Given the description of an element on the screen output the (x, y) to click on. 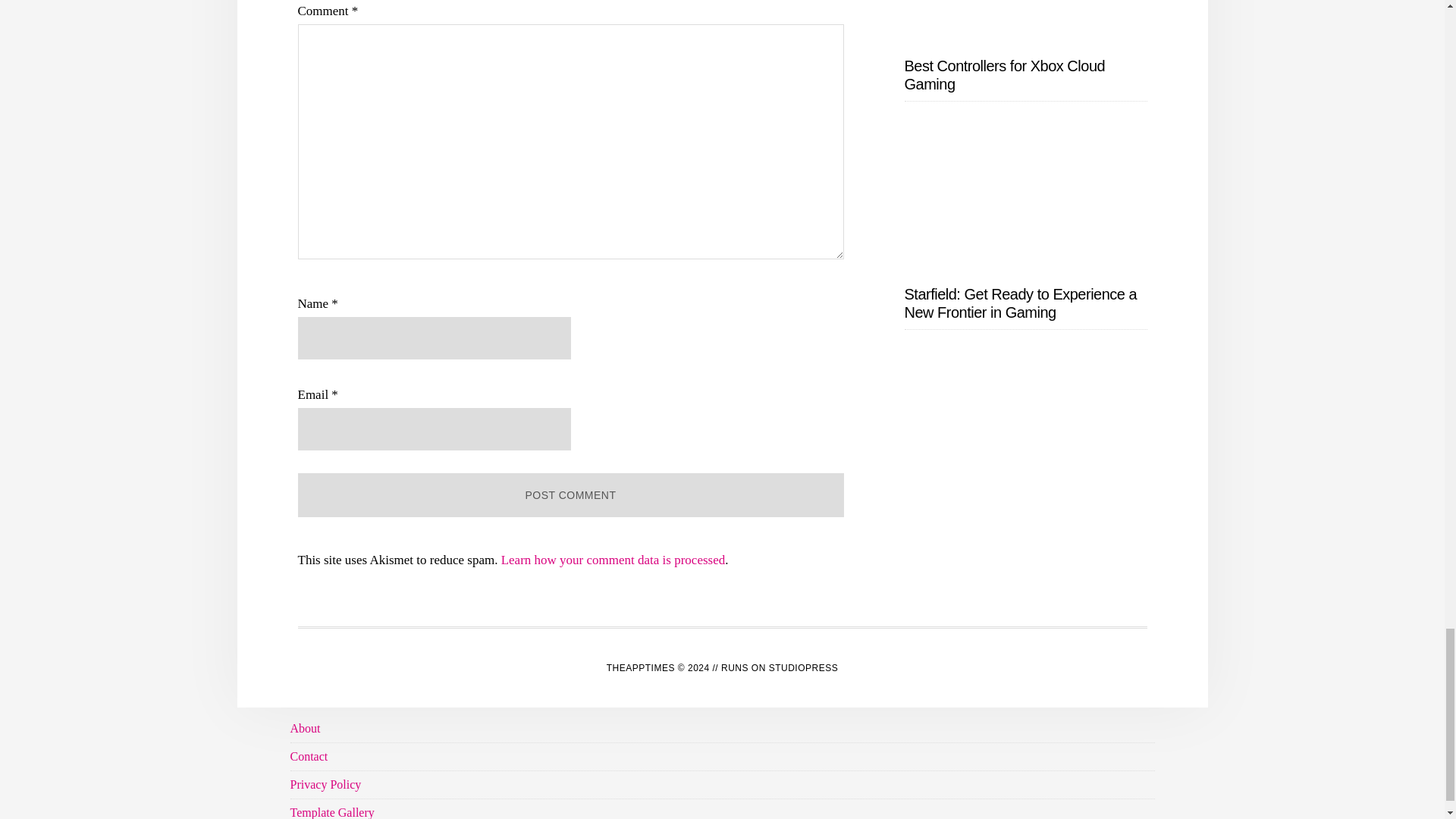
Learn how your comment data is processed (612, 559)
Post Comment (570, 494)
Post Comment (570, 494)
